Given the description of an element on the screen output the (x, y) to click on. 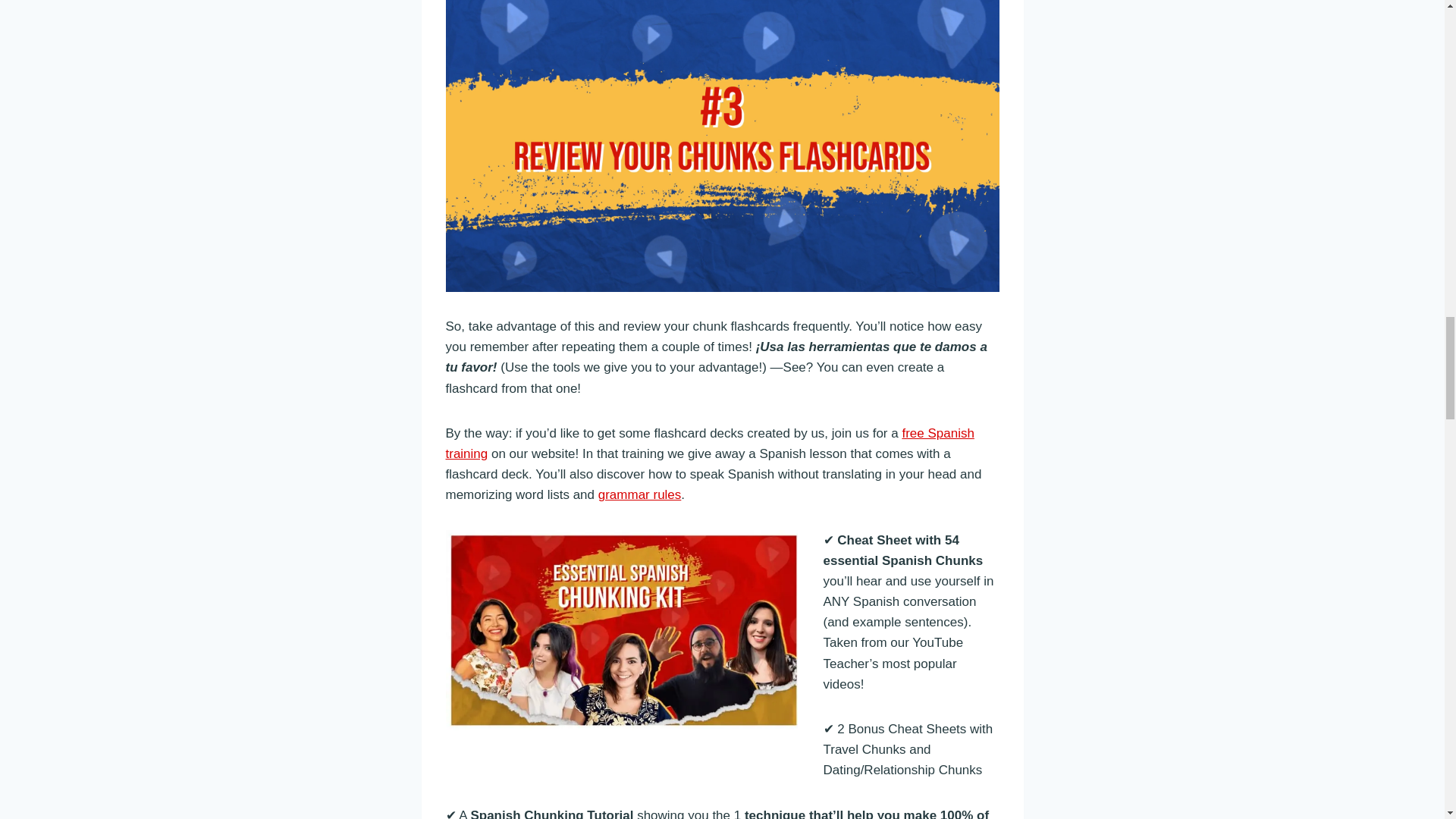
grammar rules (639, 494)
free Spanish training (709, 443)
